Given the description of an element on the screen output the (x, y) to click on. 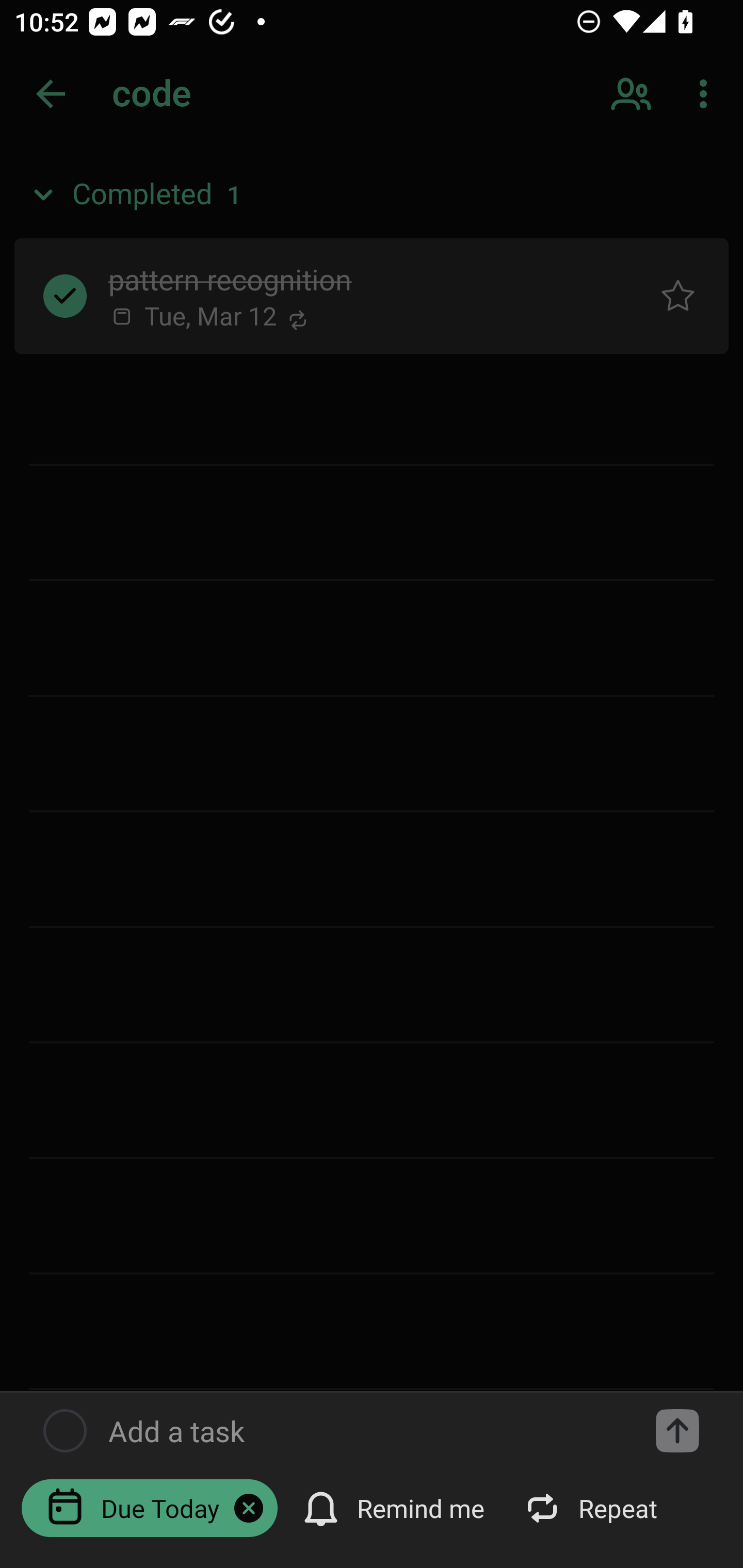
Back (50, 93)
testappium002@outlook.com Enter search (185, 93)
Sharing options (632, 93)
More options (706, 93)
Completed, 1 item, Expanded Completed 1 (371, 195)
Completed task pattern recognition, Button (64, 295)
Normal task pattern recognition, Button (677, 295)
Add a task (676, 1430)
Add a task (366, 1430)
Due Today Remove due date (149, 1507)
Remind me (395, 1507)
Repeat (592, 1507)
Remove due date (248, 1508)
